Given the description of an element on the screen output the (x, y) to click on. 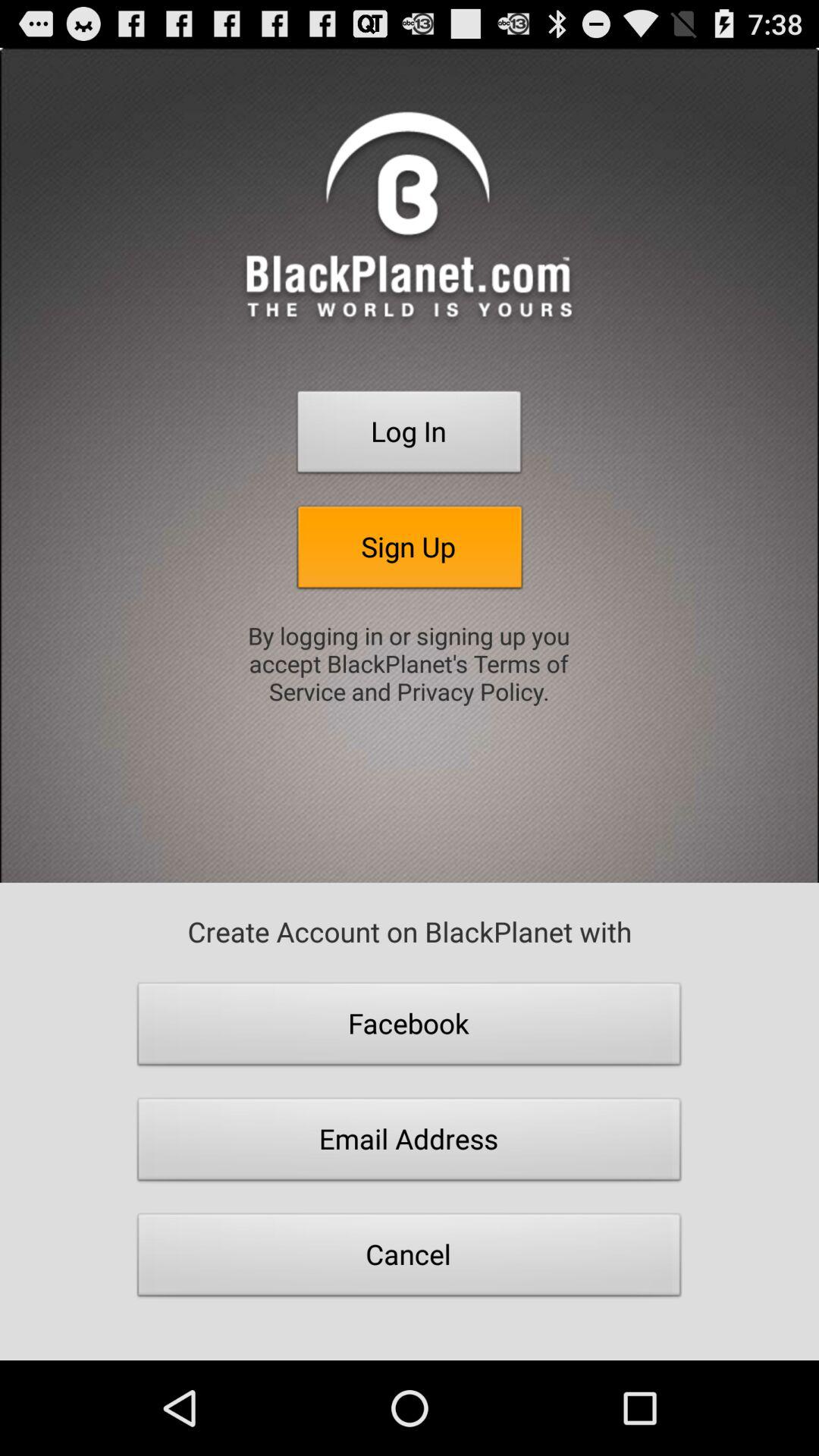
turn on the item below email address (409, 1258)
